Given the description of an element on the screen output the (x, y) to click on. 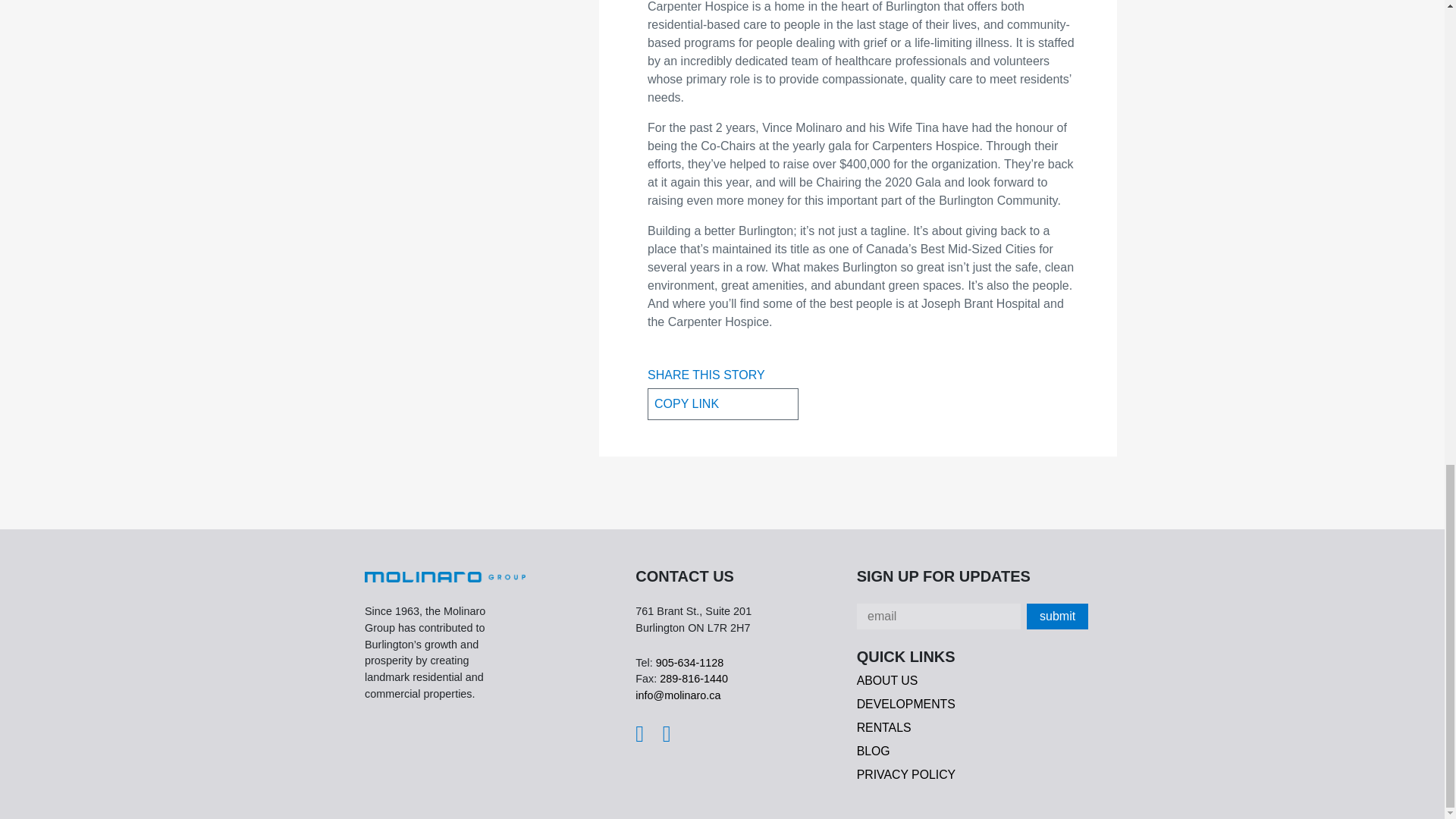
ABOUT US (887, 680)
289-816-1440 (693, 678)
COPY LINK (722, 403)
905-634-1128 (689, 662)
submit (1056, 616)
